Given the description of an element on the screen output the (x, y) to click on. 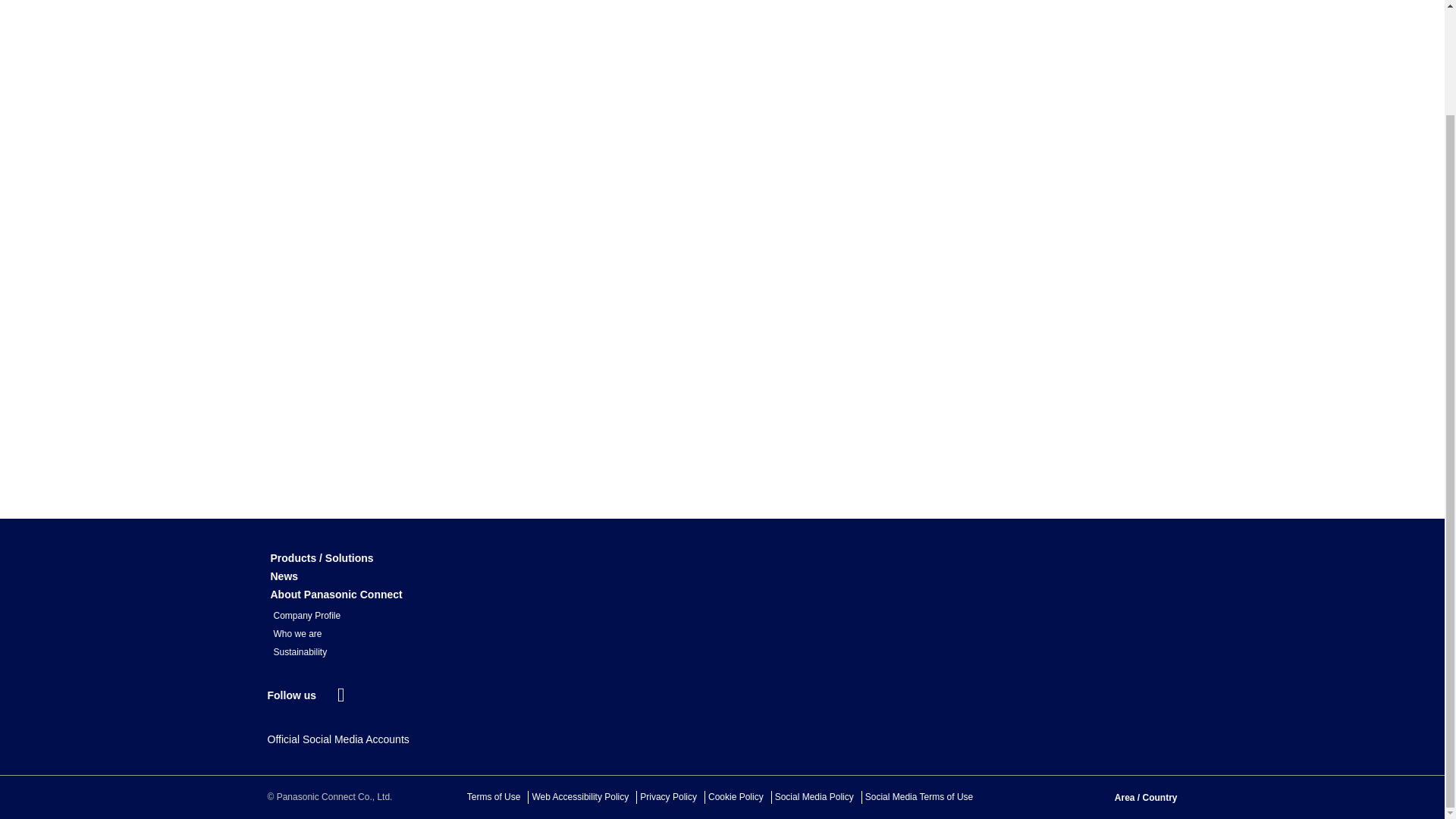
News (283, 576)
Social Media Terms of Use (919, 797)
Web Accessibility Policy (579, 797)
Social Media Policy (813, 797)
About Panasonic Connect (335, 595)
Cookie Policy (734, 797)
Sustainability (299, 652)
Official Social Media Accounts (337, 739)
Company Profile (306, 615)
Who we are (297, 634)
Privacy Policy (668, 797)
Terms of Use (494, 797)
